Given the description of an element on the screen output the (x, y) to click on. 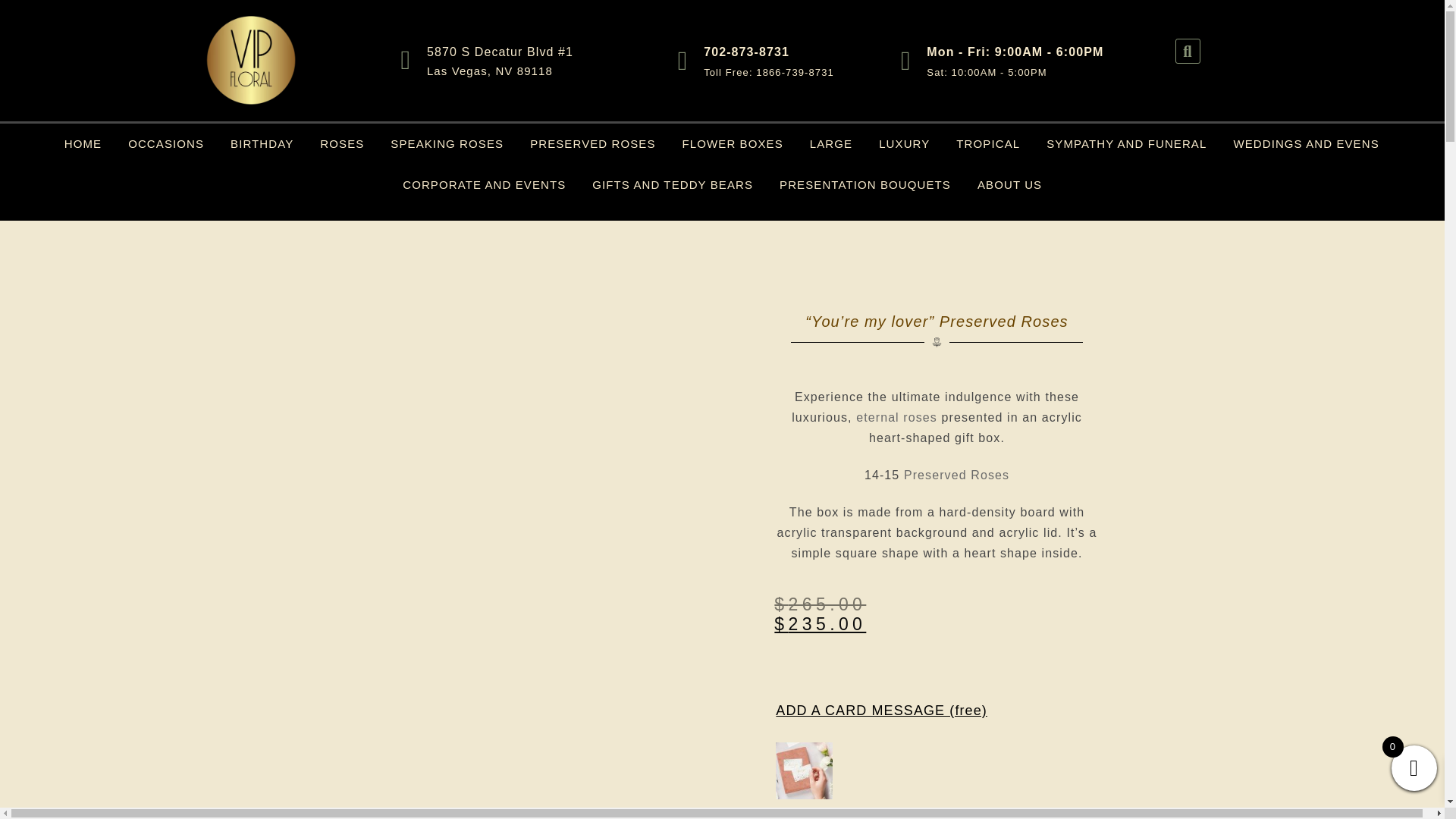
FLOWER BOXES (731, 143)
SPEAKING ROSES (446, 143)
HOME (82, 143)
SYMPATHY AND FUNERAL (1125, 143)
BIRTHDAY (261, 143)
LARGE (830, 143)
WEDDINGS AND EVENS (1305, 143)
LUXURY (904, 143)
PRESERVED ROSES (592, 143)
OCCASIONS (165, 143)
